Given the description of an element on the screen output the (x, y) to click on. 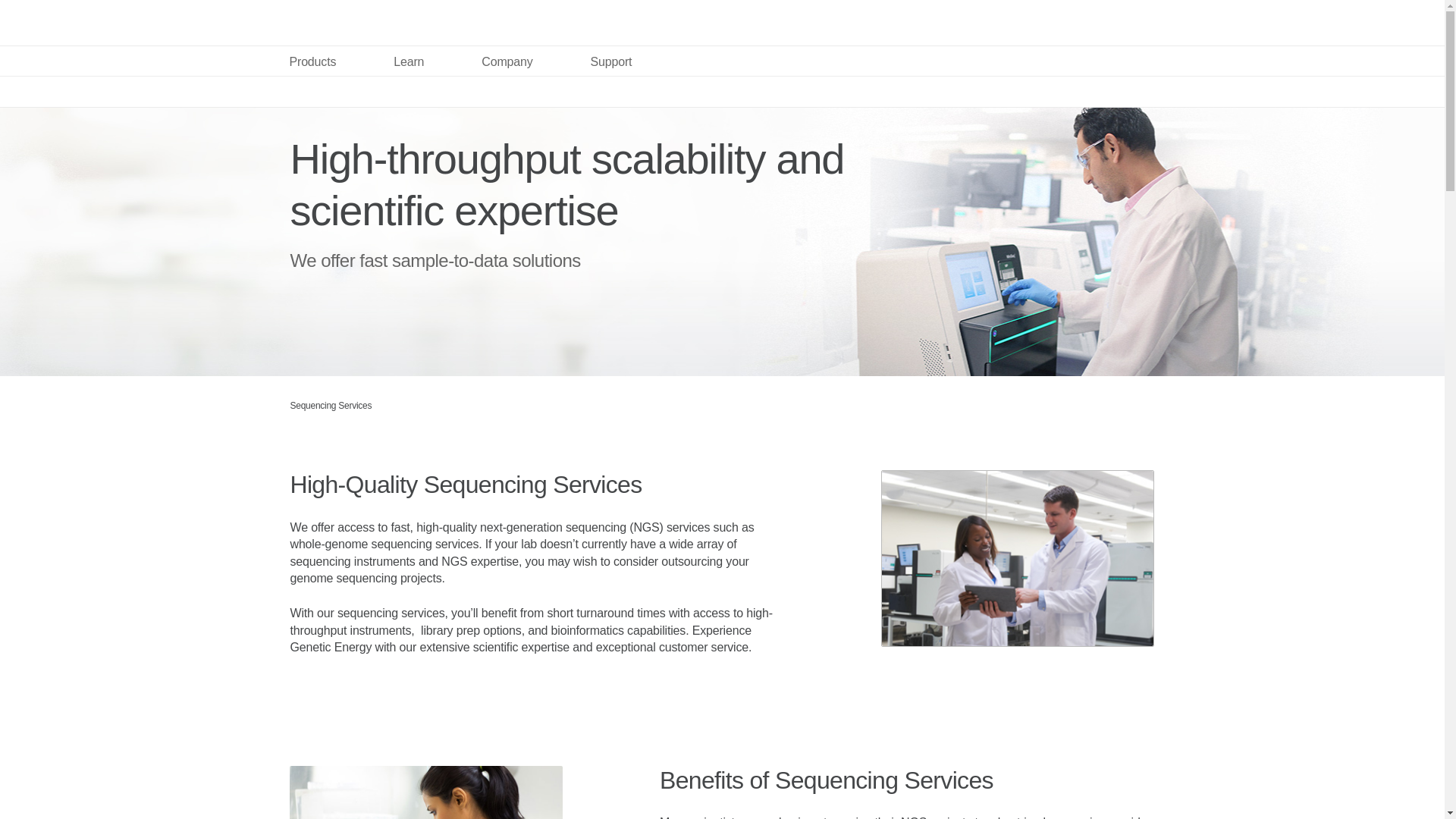
Support (611, 61)
Learn (408, 61)
Company (506, 61)
Products (311, 61)
